Given the description of an element on the screen output the (x, y) to click on. 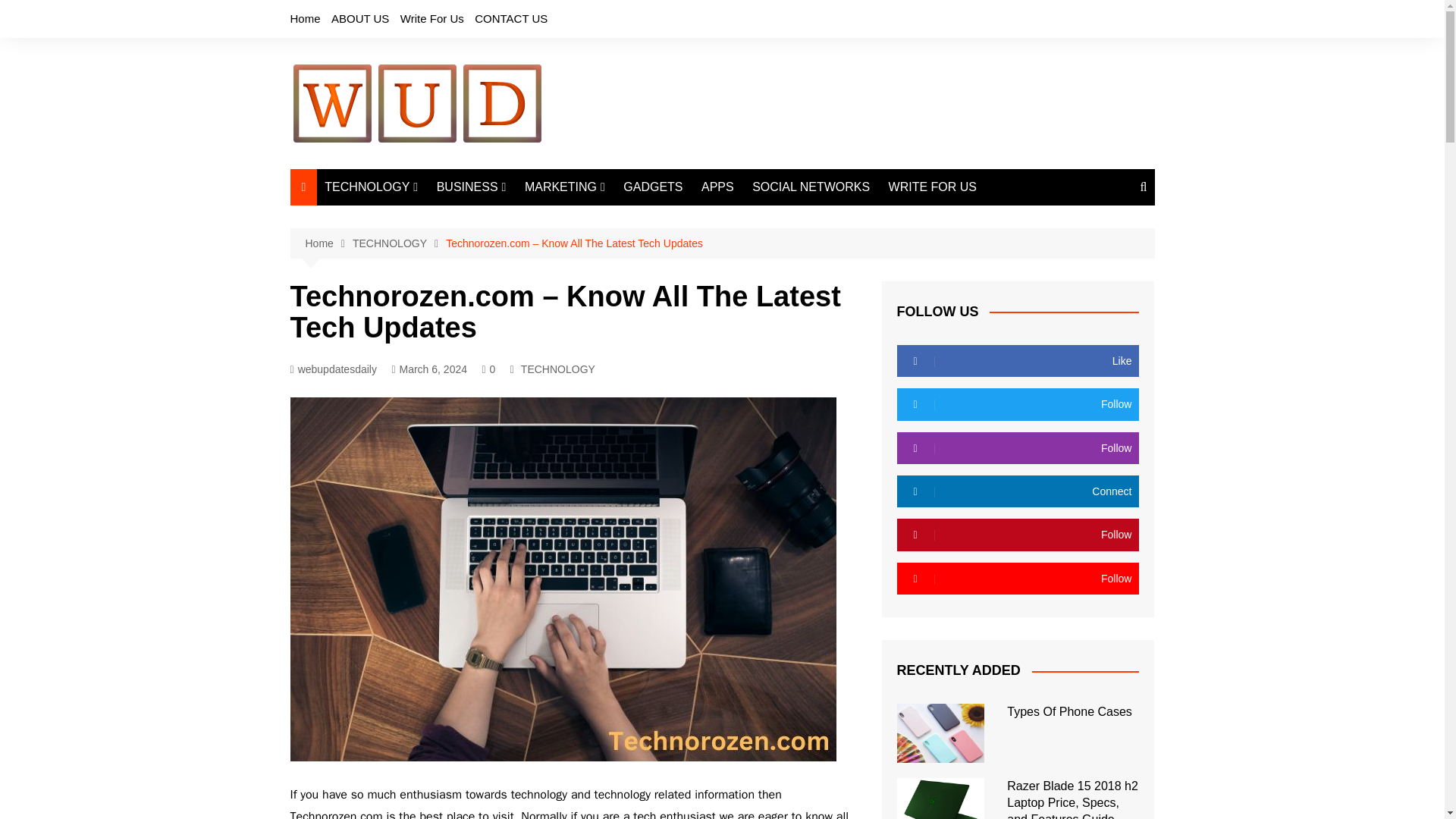
WRITE FOR US (932, 186)
Home (328, 243)
TECHNOLOGY (371, 186)
Machine Learning (400, 242)
SOCIAL NETWORKS (810, 186)
MARKETING (564, 186)
ABOUT US (359, 18)
Write For Us (432, 18)
Digitalization (400, 292)
GADGETS (652, 186)
